Given the description of an element on the screen output the (x, y) to click on. 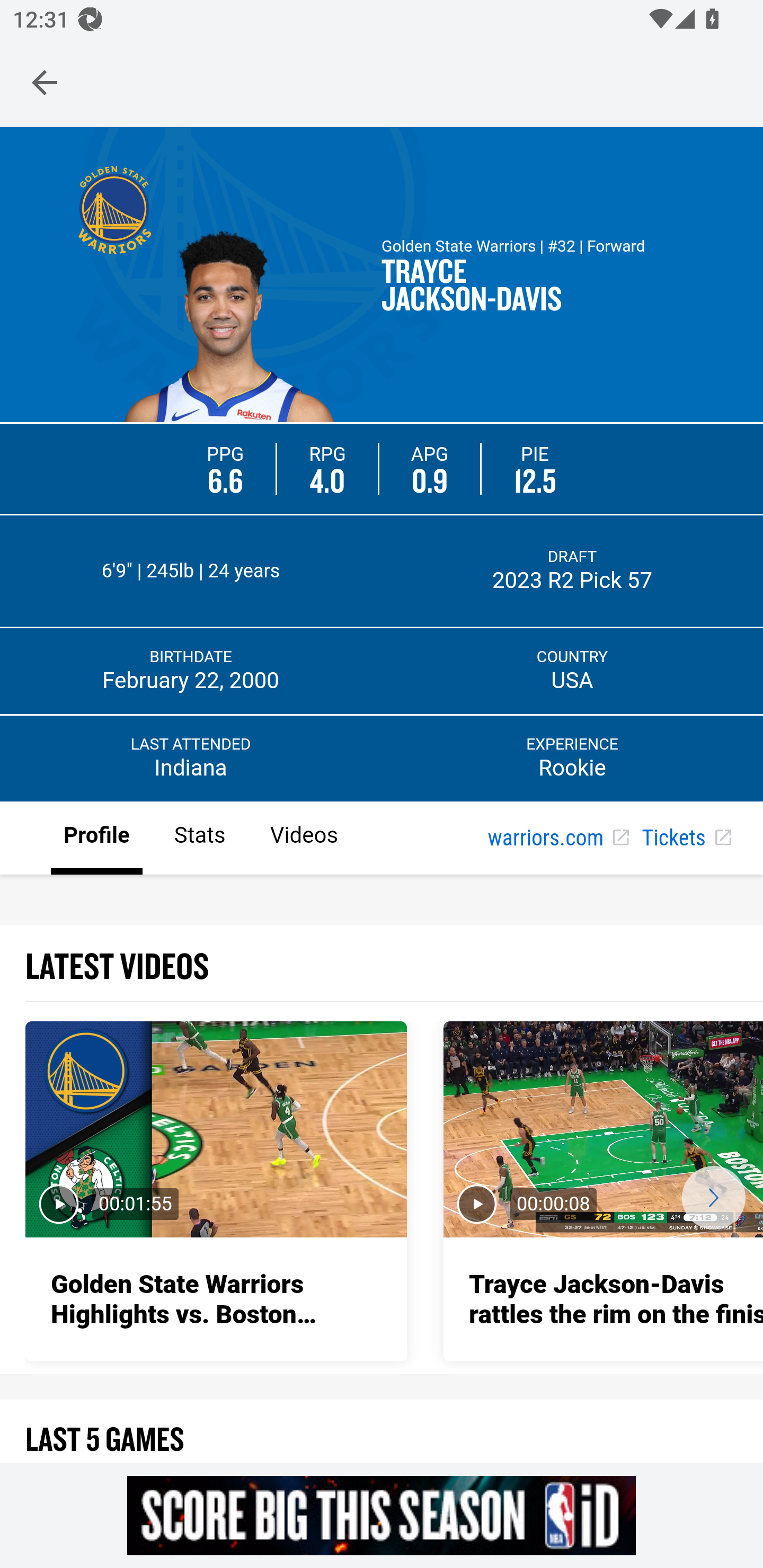
Navigate up (44, 82)
Golden State Warriors Logo (114, 209)
Profile (97, 838)
Stats (199, 838)
Videos (302, 838)
warriors.com (557, 838)
Tickets (685, 838)
Carousel Button (713, 1197)
